Given the description of an element on the screen output the (x, y) to click on. 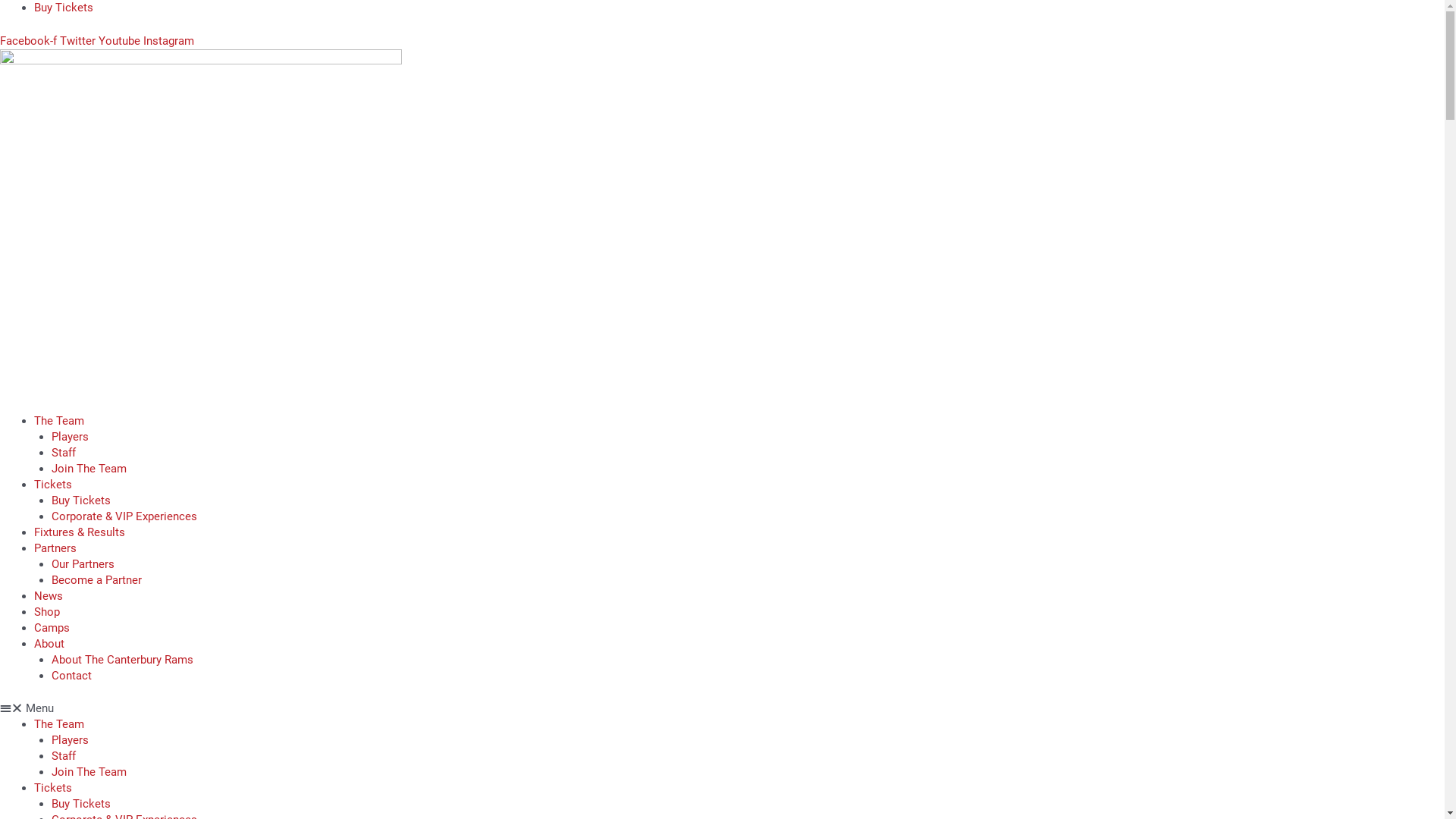
Fixtures & Results Element type: text (79, 531)
Tickets Element type: text (53, 484)
Join The Team Element type: text (88, 771)
Buy Tickets Element type: text (80, 499)
The Team Element type: text (59, 420)
About The Canterbury Rams Element type: text (122, 658)
Become a Partner Element type: text (96, 579)
Camps Element type: text (51, 626)
Tickets Element type: text (53, 787)
Twitter Element type: text (78, 40)
Players Element type: text (69, 435)
Staff Element type: text (63, 755)
Youtube Element type: text (120, 40)
Staff Element type: text (63, 452)
Buy Tickets Element type: text (63, 7)
Shop Element type: text (46, 611)
Instagram Element type: text (168, 40)
Contact Element type: text (71, 675)
Our Partners Element type: text (82, 563)
Facebook-f Element type: text (29, 40)
Buy Tickets Element type: text (80, 803)
Partners Element type: text (55, 548)
Players Element type: text (69, 739)
Join The Team Element type: text (88, 467)
Corporate & VIP Experiences Element type: text (124, 516)
News Element type: text (48, 595)
About Element type: text (49, 643)
The Team Element type: text (59, 724)
